Given the description of an element on the screen output the (x, y) to click on. 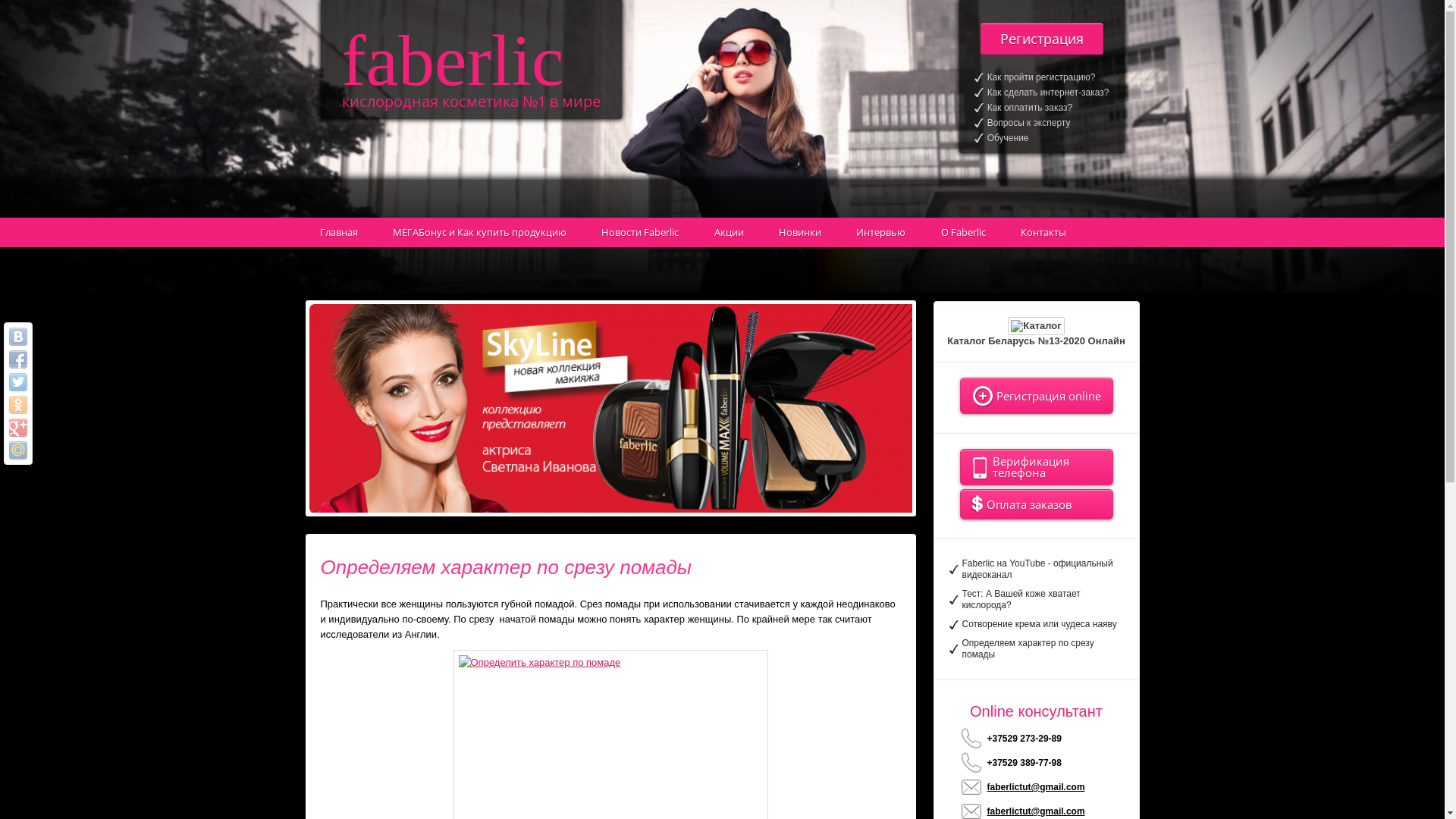
faberlictut@gmail.com Element type: text (1041, 786)
faberlic Element type: text (452, 59)
